Given the description of an element on the screen output the (x, y) to click on. 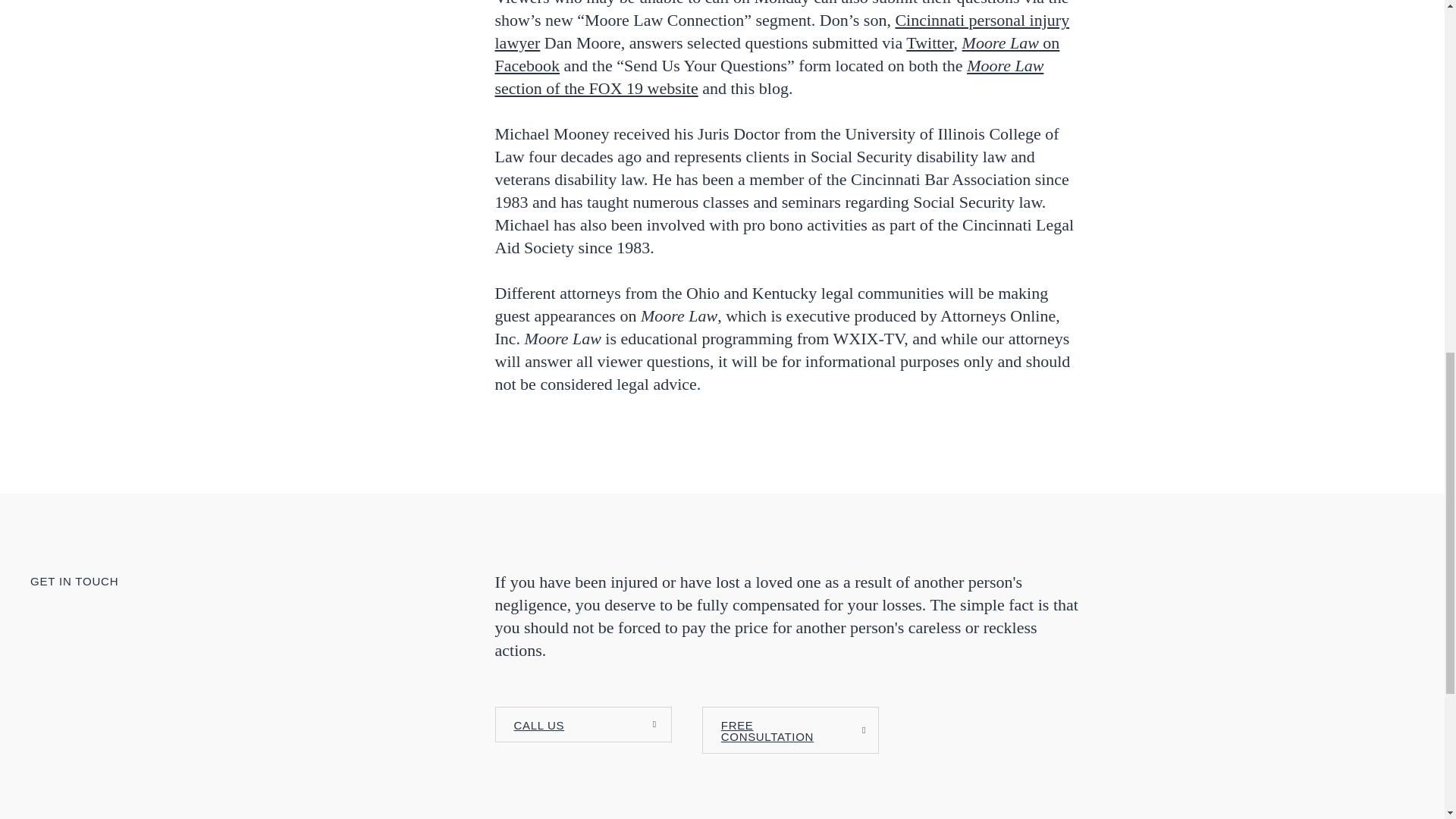
Moore Law on Facebook (777, 54)
Link to Moore Law Facebook (777, 54)
CALL US (583, 724)
Twitter (929, 42)
Link to Moore Law section of FOX 19 website (769, 76)
Moore Law section of the FOX 19 website (769, 76)
FREE CONSULTATION (790, 729)
Cincinnati personal injury lawyer (781, 31)
Link to Moore Law Twitter (929, 42)
